Given the description of an element on the screen output the (x, y) to click on. 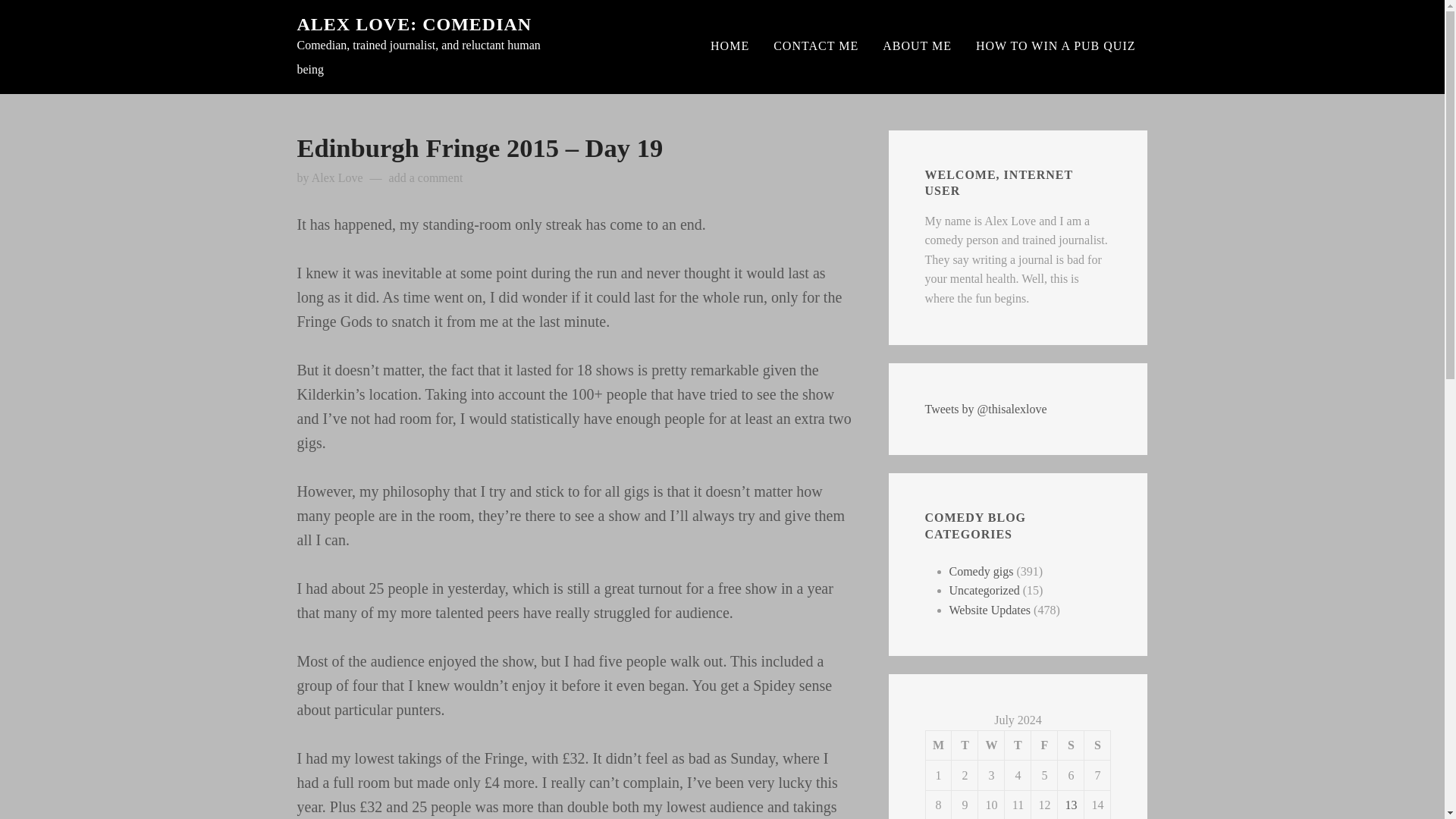
Monday (938, 745)
ABOUT ME (916, 45)
13 (1070, 804)
HOW TO WIN A PUB QUIZ (1055, 45)
CONTACT ME (815, 45)
Thursday (1017, 745)
Saturday (1071, 745)
Wednesday (991, 745)
Sunday (1097, 745)
add a comment (425, 177)
HOME (729, 45)
Alex Love (336, 177)
Comedy gigs (981, 571)
Friday (1044, 745)
ALEX LOVE: COMEDIAN (414, 24)
